Given the description of an element on the screen output the (x, y) to click on. 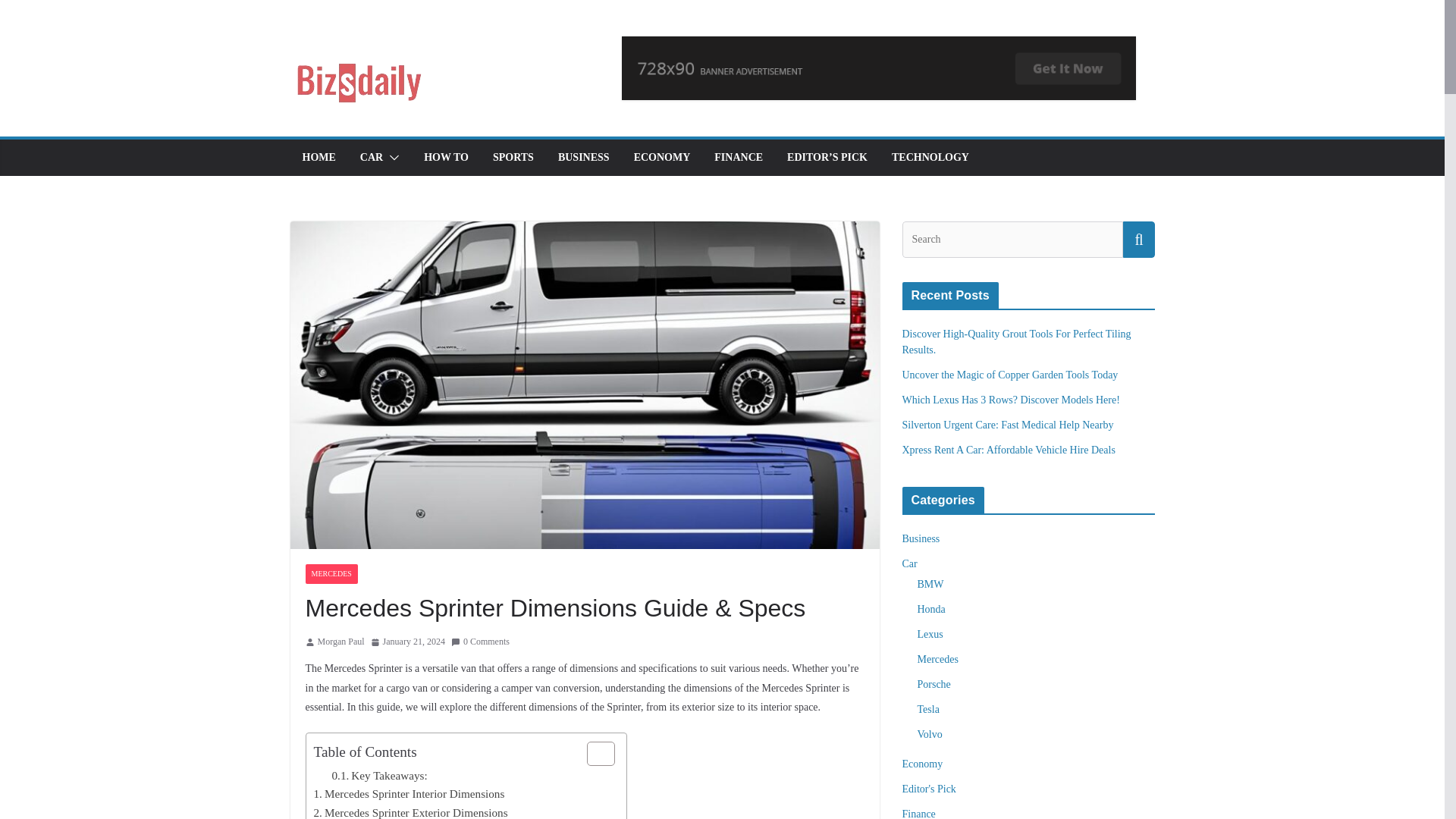
FINANCE (738, 157)
0 Comments (480, 641)
HOME (317, 157)
Key Takeaways: (379, 775)
Morgan Paul (340, 641)
2:46 pm (408, 641)
CAR (370, 157)
ECONOMY (661, 157)
HOW TO (445, 157)
Morgan Paul (340, 641)
TECHNOLOGY (930, 157)
SPORTS (513, 157)
Key Takeaways: (379, 775)
Mercedes Sprinter Exterior Dimensions (411, 811)
Mercedes Sprinter Interior Dimensions (409, 793)
